Given the description of an element on the screen output the (x, y) to click on. 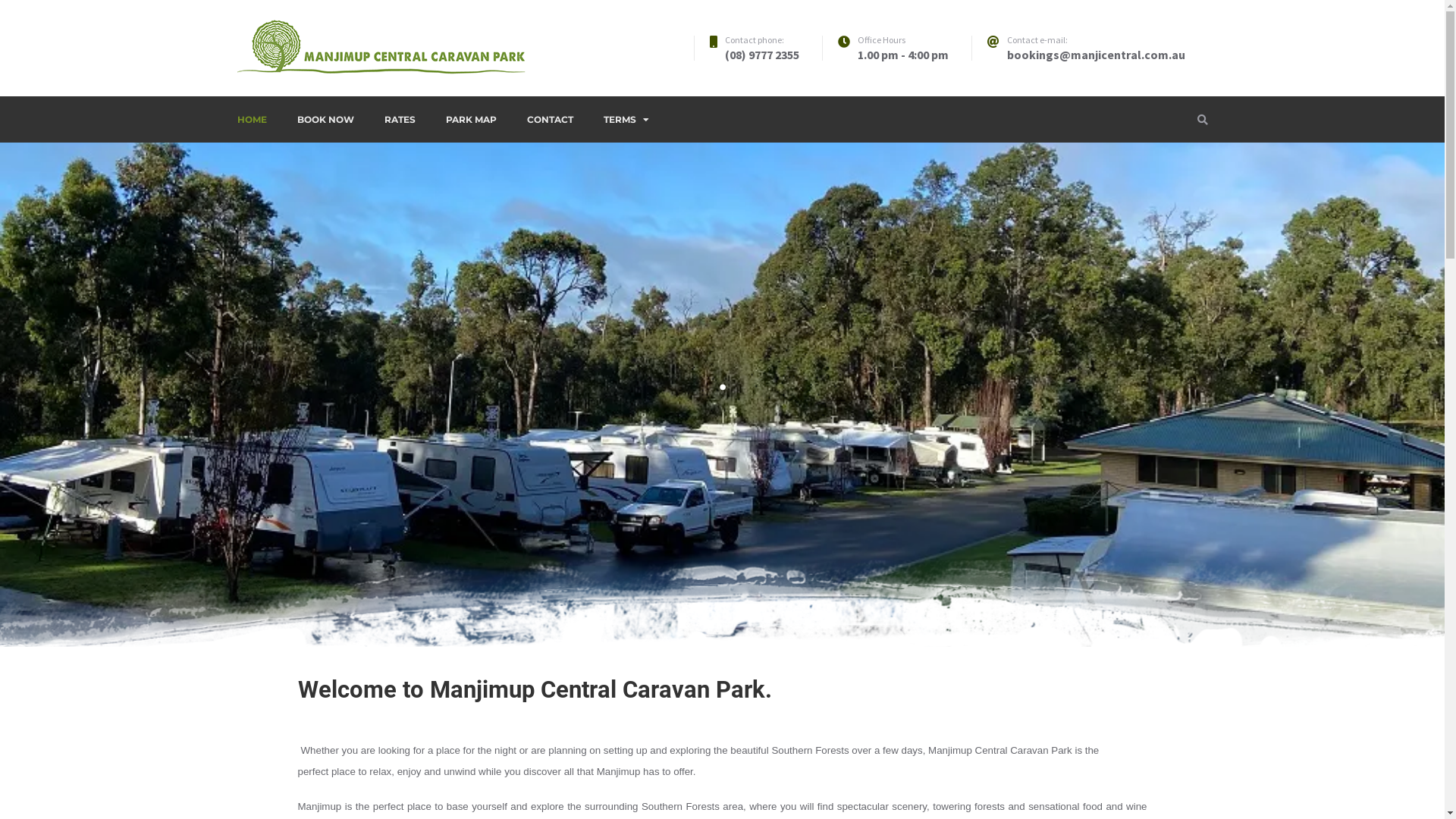
HOME Element type: text (258, 119)
BOOK NOW Element type: text (325, 119)
RATES Element type: text (398, 119)
Manjimup Central Caravan Park Element type: text (388, 92)
PARK MAP Element type: text (470, 119)
CONTACT Element type: text (549, 119)
TERMS Element type: text (626, 119)
